Given the description of an element on the screen output the (x, y) to click on. 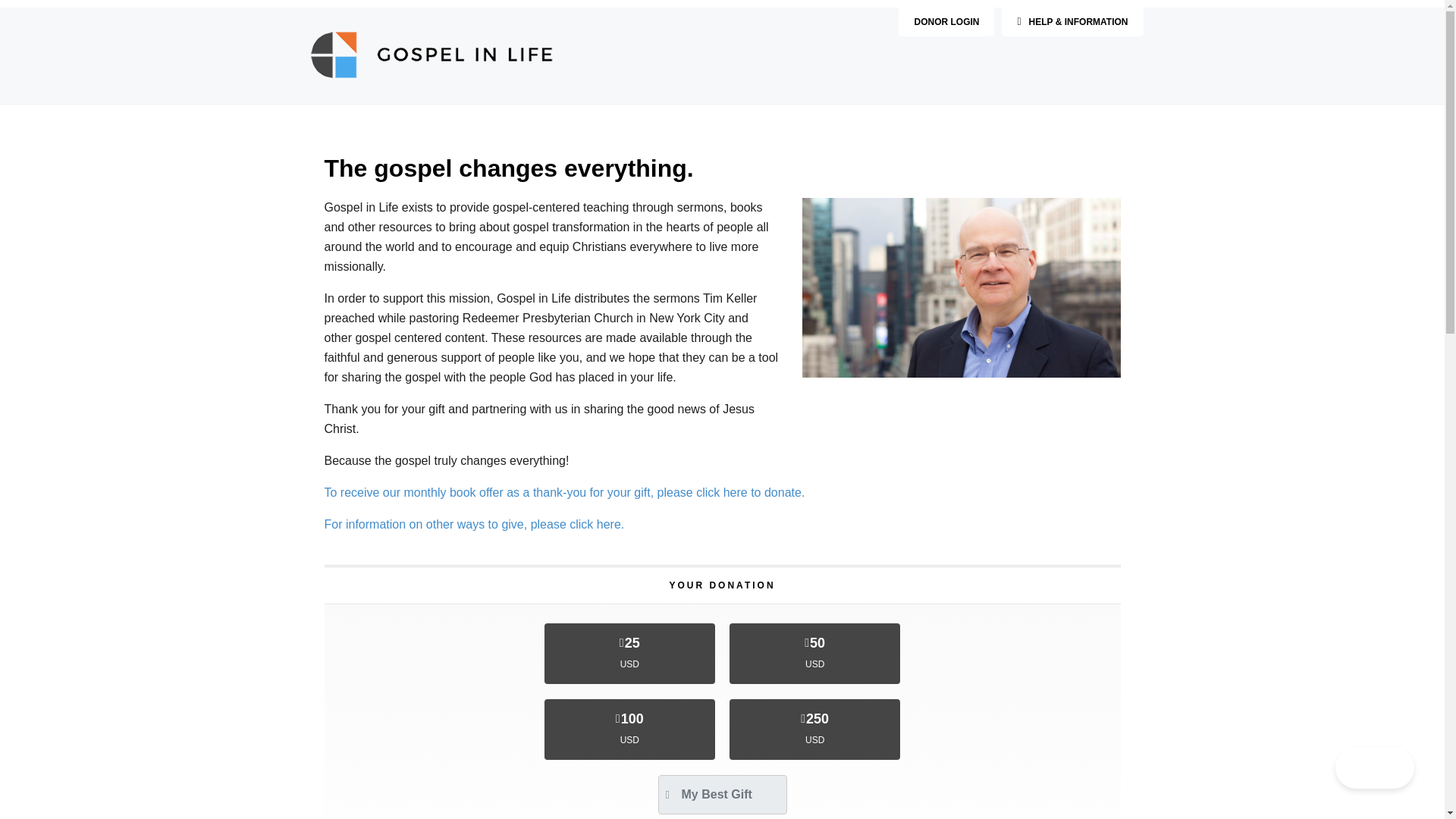
DONOR LOGIN (946, 21)
For information on other ways to give, please click here. (474, 523)
